Given the description of an element on the screen output the (x, y) to click on. 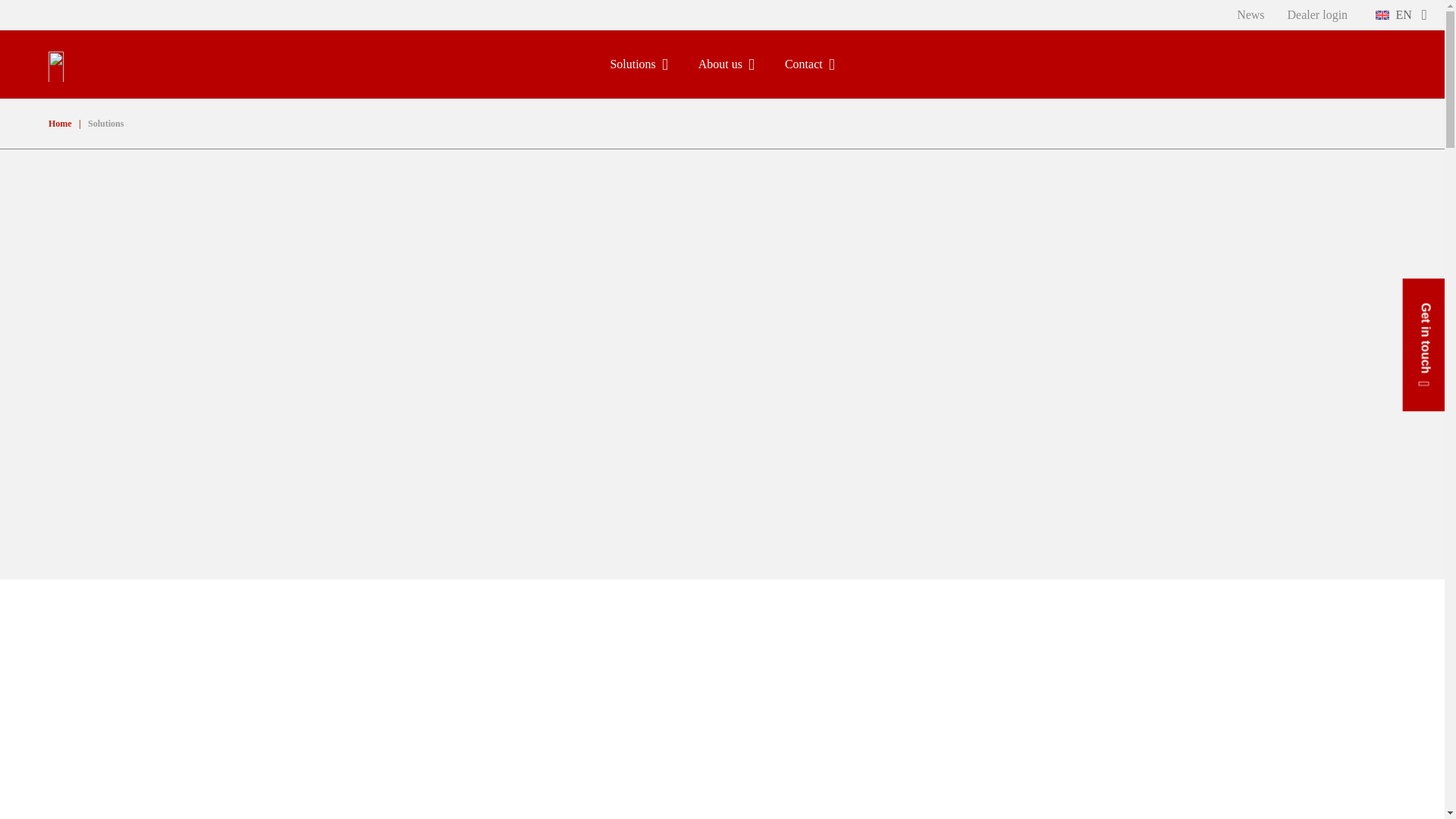
EN (1400, 15)
News (1250, 15)
Dealer login (1317, 15)
Solutions (638, 64)
